Given the description of an element on the screen output the (x, y) to click on. 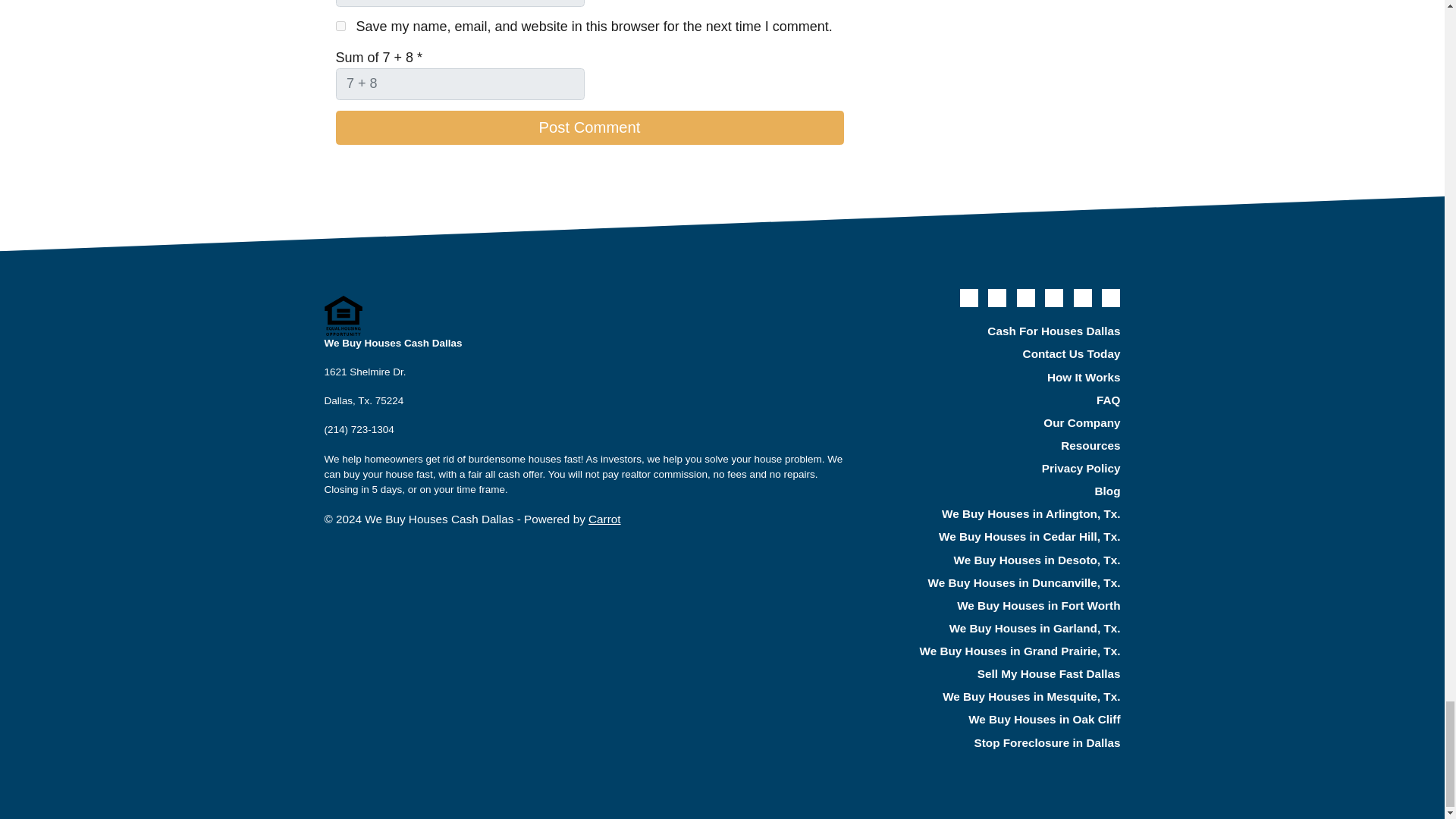
We Buy Houses Cash Arlington, Tx. (995, 514)
Post Comment (588, 127)
yes (339, 26)
Post Comment (588, 127)
